Given the description of an element on the screen output the (x, y) to click on. 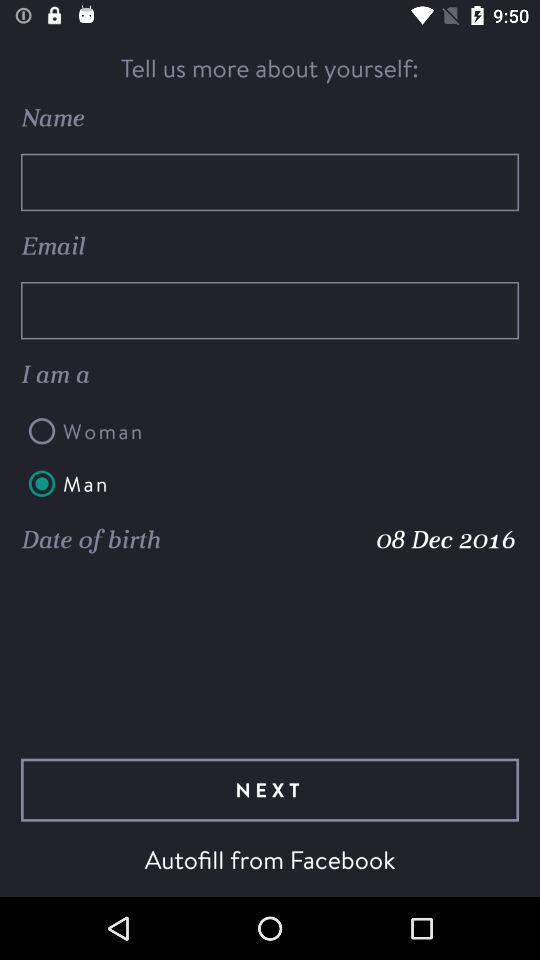
swipe until the autofill from facebook item (270, 859)
